Given the description of an element on the screen output the (x, y) to click on. 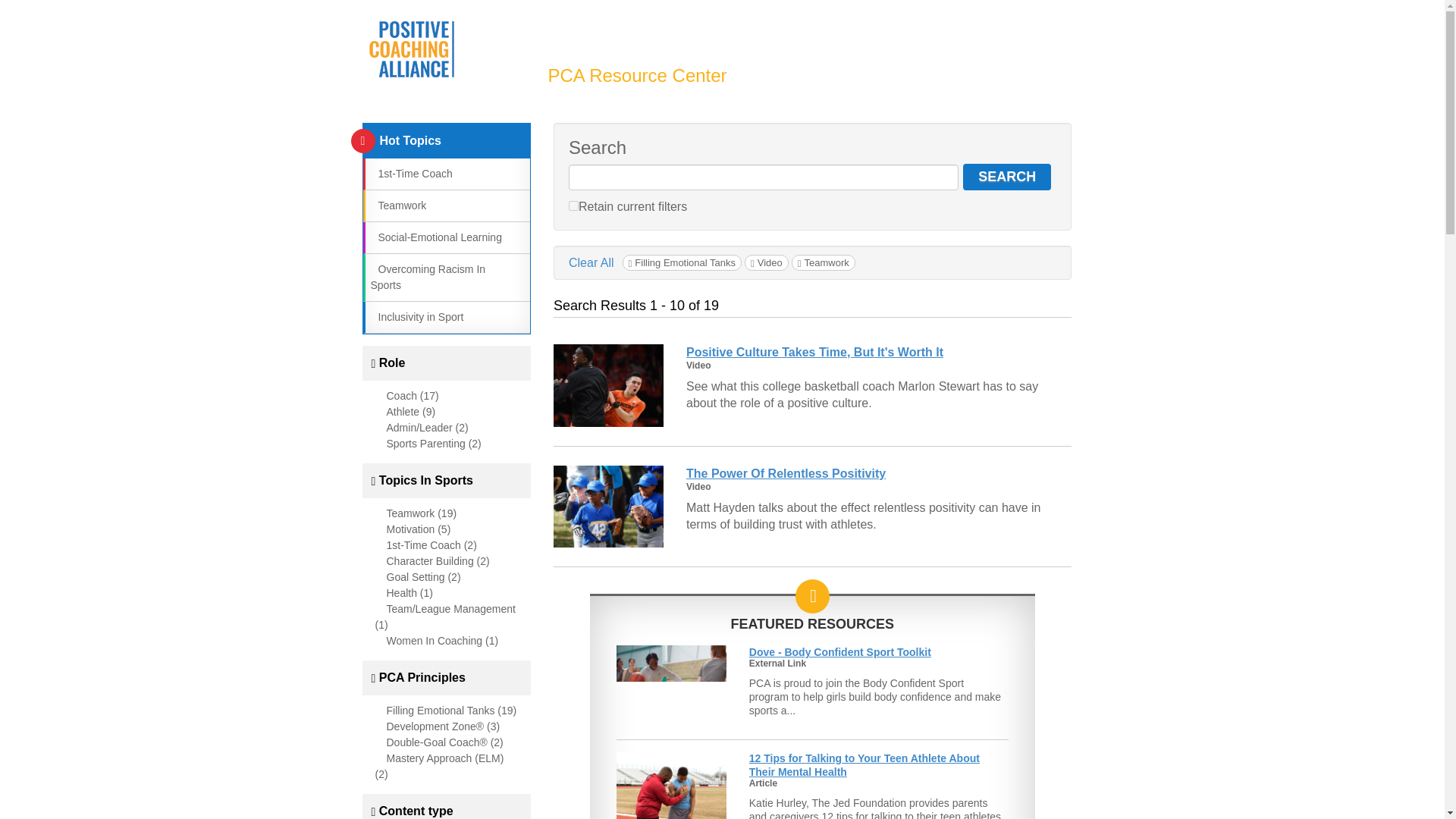
Video (766, 262)
Overcoming Racism In Sports (426, 276)
SEARCH (1006, 176)
Dove - Body Confident Sport Toolkit (840, 652)
Teamwork (824, 262)
The Power Of Relentless Positivity (785, 472)
1st-Time Coach (410, 173)
Inclusivity in Sport (416, 316)
Filling Emotional Tanks (682, 262)
Teamwork (397, 205)
